Given the description of an element on the screen output the (x, y) to click on. 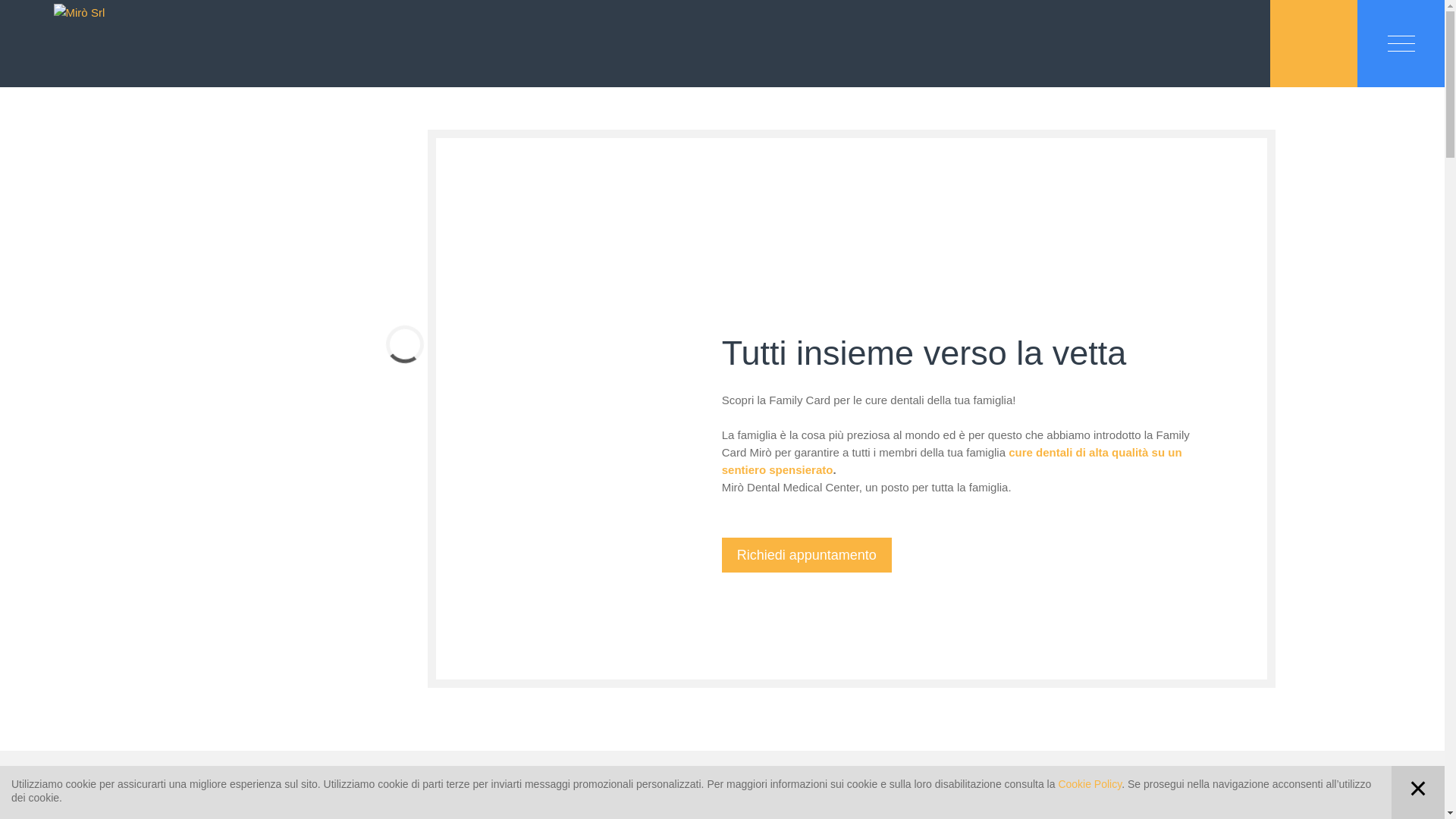
Richiedi appuntamento Element type: text (806, 554)
Cookie Policy Element type: text (1089, 784)
su un sentiero spensierato Element type: text (951, 460)
